Given the description of an element on the screen output the (x, y) to click on. 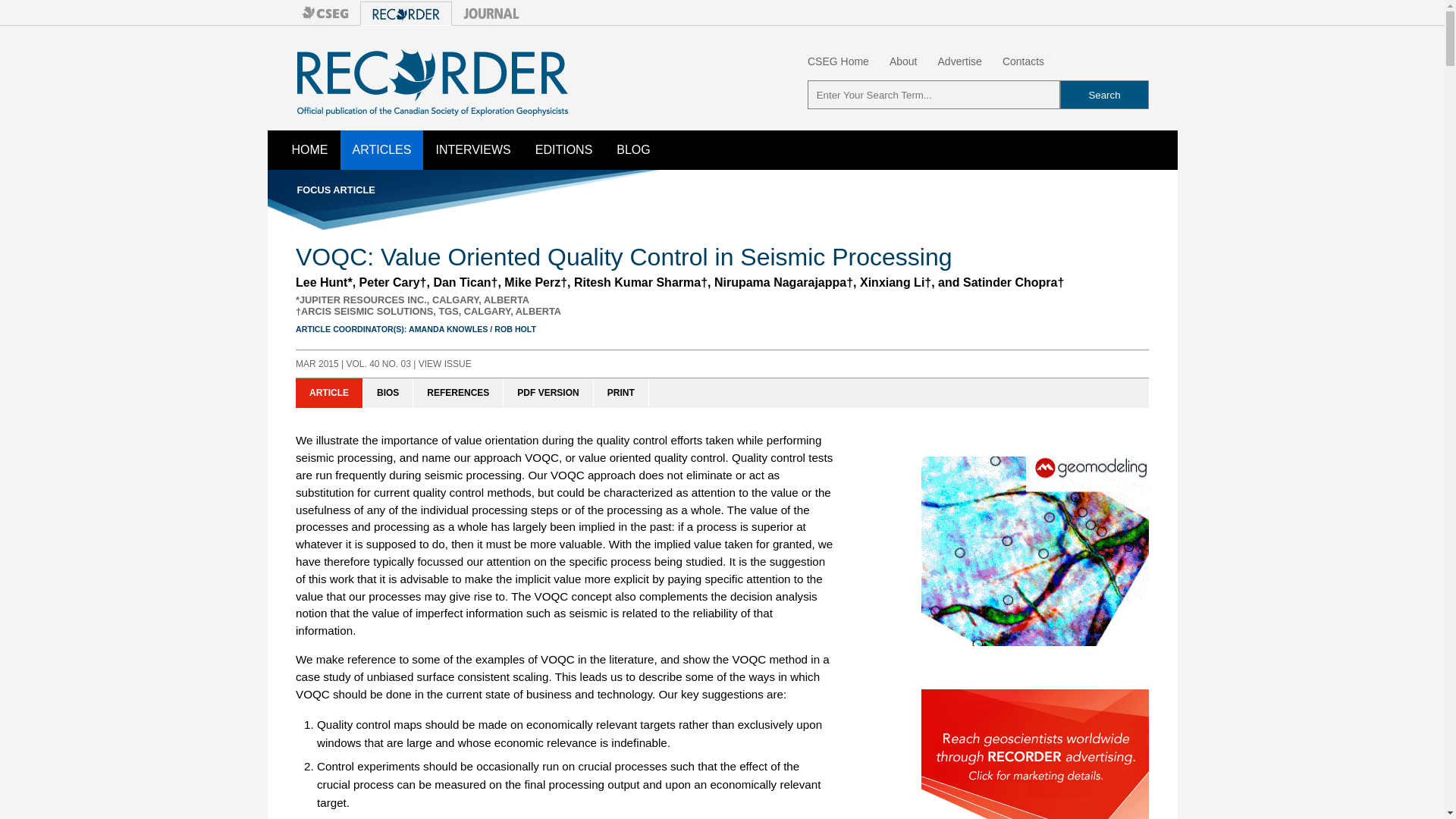
ARTICLES (381, 149)
BIOS (387, 392)
Advertise (959, 61)
Contacts (1023, 61)
PDF VERSION (547, 392)
Search (1103, 94)
BLOG (633, 149)
CSEG Home (838, 61)
HOME (309, 149)
PRINT (621, 392)
